Given the description of an element on the screen output the (x, y) to click on. 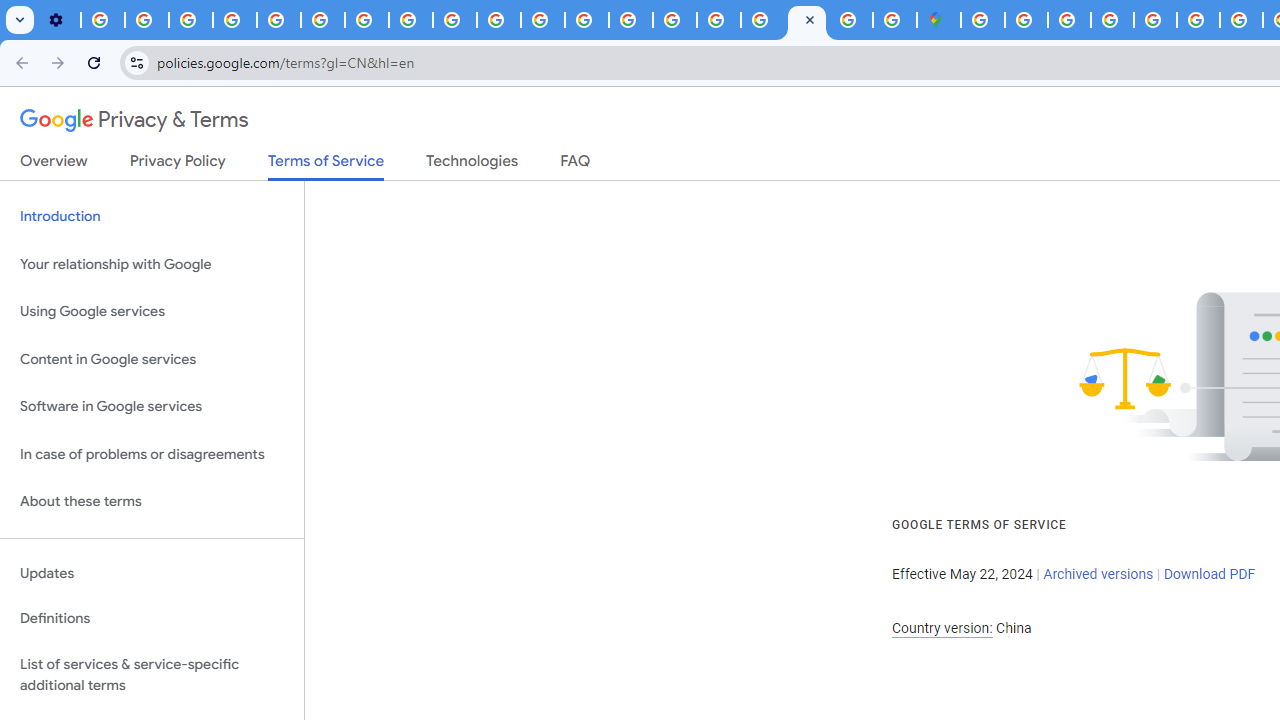
In case of problems or disagreements (152, 453)
Content in Google services (152, 358)
Using Google services (152, 312)
Learn how to find your photos - Google Photos Help (146, 20)
Country version: (942, 628)
Software in Google services (152, 407)
About these terms (152, 502)
Privacy Help Center - Policies Help (1197, 20)
Google Maps (938, 20)
Archived versions (1098, 574)
